Given the description of an element on the screen output the (x, y) to click on. 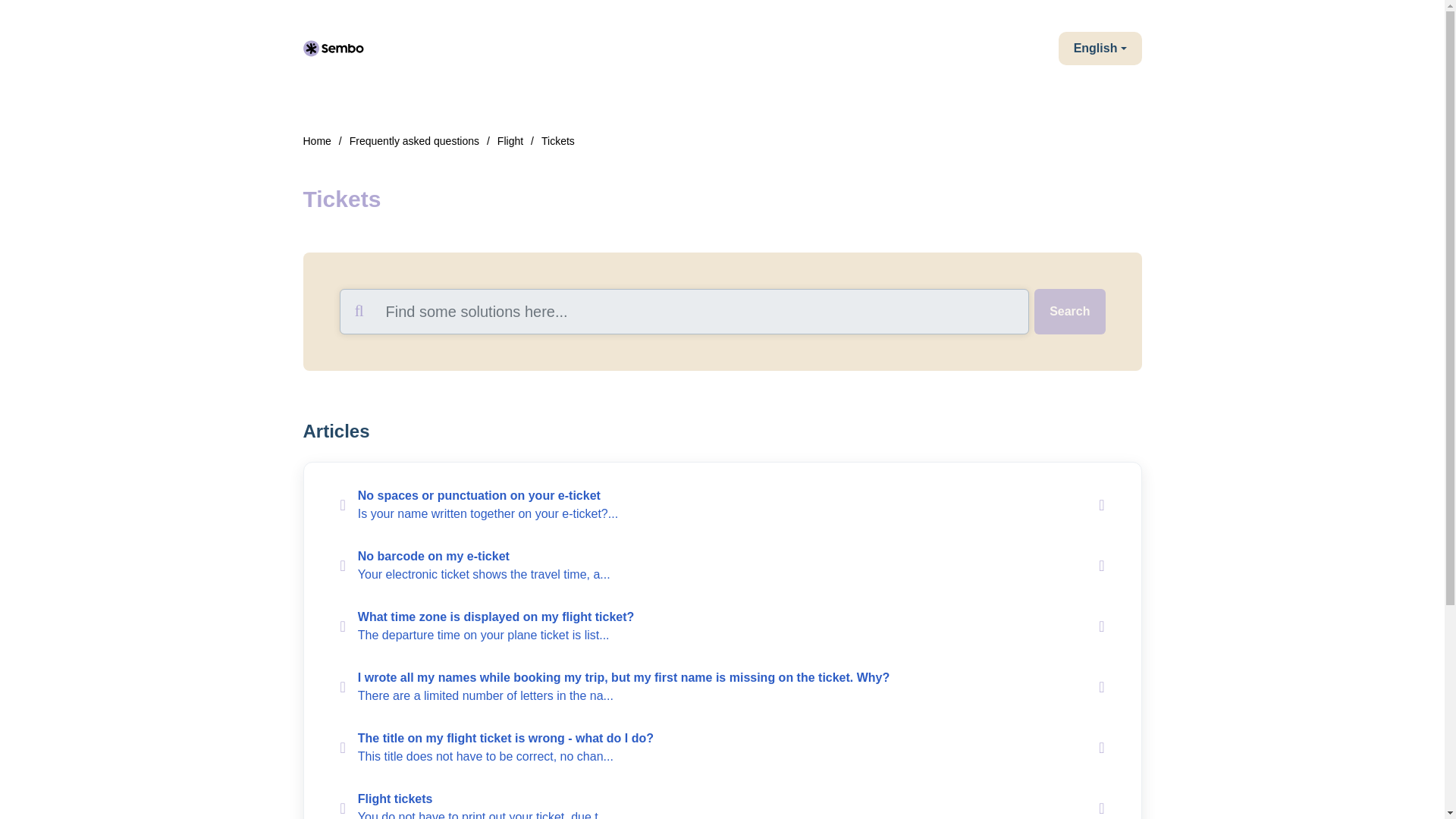
Chat (1406, 779)
Frequently asked questions (414, 141)
Flight (509, 141)
English (1099, 48)
Home (316, 141)
